Given the description of an element on the screen output the (x, y) to click on. 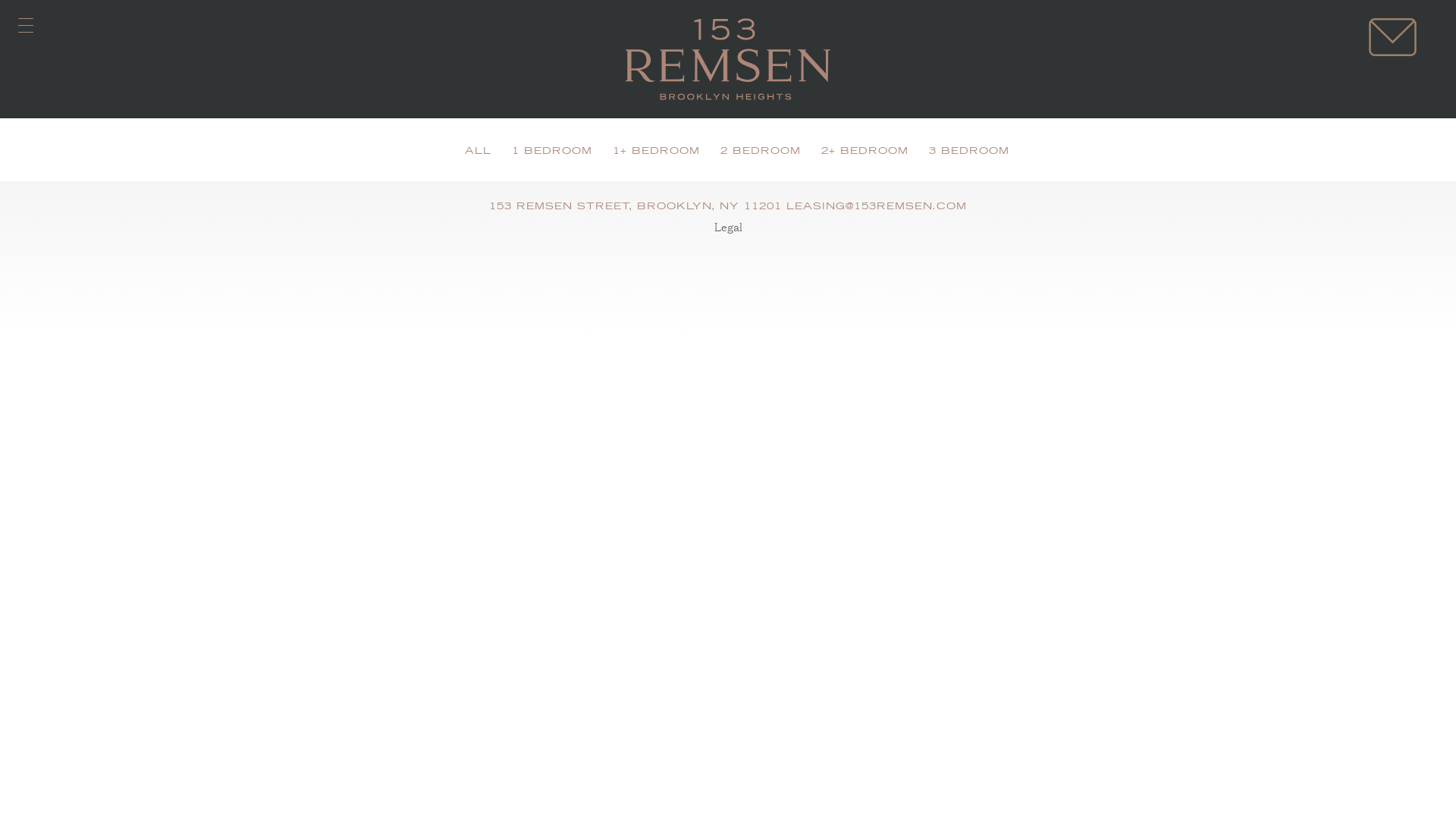
2 BEDROOM Element type: text (760, 151)
1 BEDROOM Element type: text (551, 151)
Legal Element type: text (728, 225)
2+ BEDROOM Element type: text (864, 151)
ALL Element type: text (477, 151)
CONTACT Element type: text (1391, 37)
3 BEDROOM Element type: text (968, 151)
LEASING@153REMSEN.COM Element type: text (876, 206)
SUBMIT Element type: text (741, 530)
1+ BEDROOM Element type: text (655, 151)
